Given the description of an element on the screen output the (x, y) to click on. 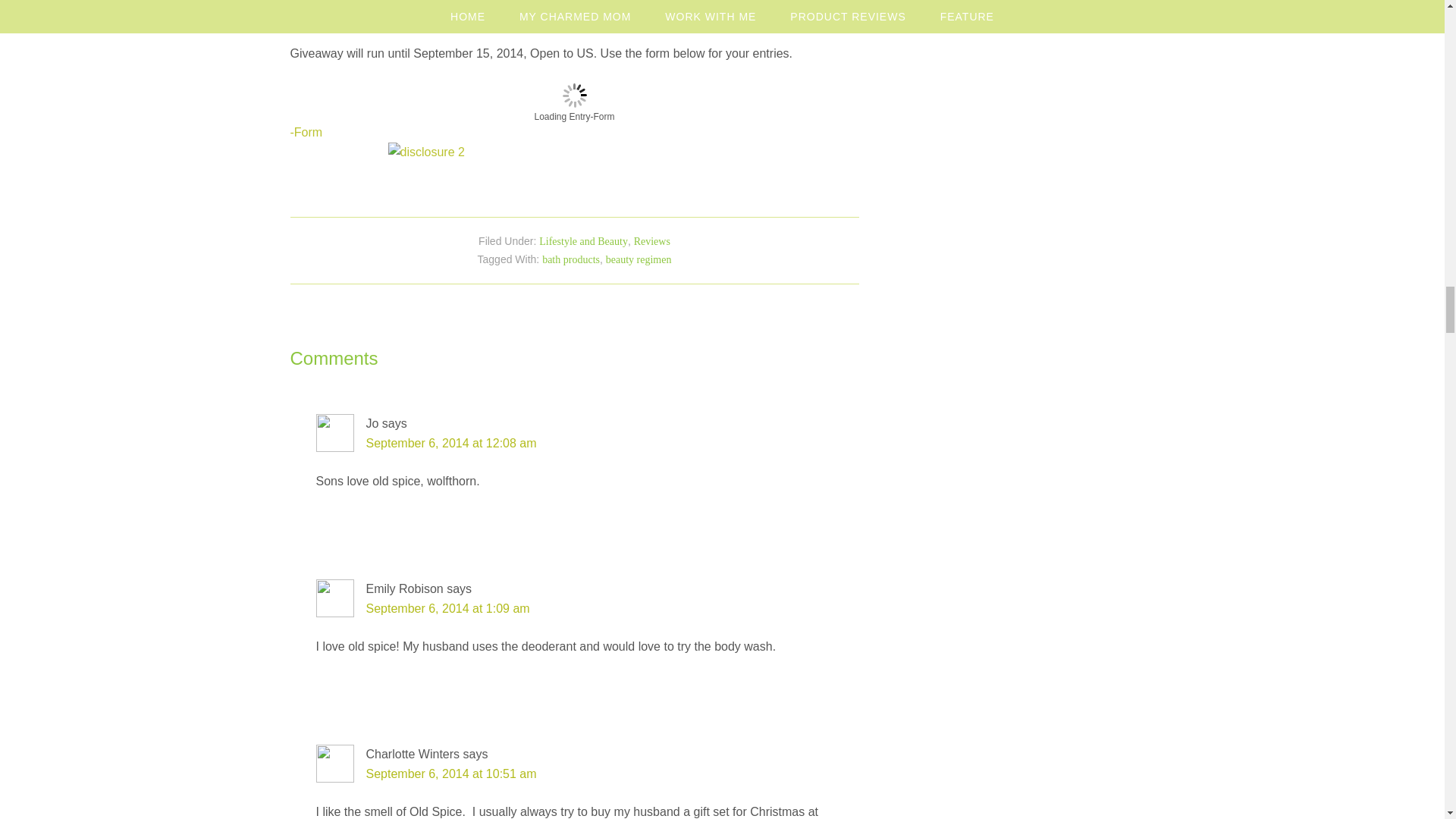
bath products (570, 259)
beauty regimen (638, 259)
September 6, 2014 at 10:51 am (450, 773)
September 6, 2014 at 1:09 am (447, 608)
September 6, 2014 at 12:08 am (450, 442)
Lifestyle and Beauty (582, 241)
Reviews (651, 241)
-Form (305, 132)
